Given the description of an element on the screen output the (x, y) to click on. 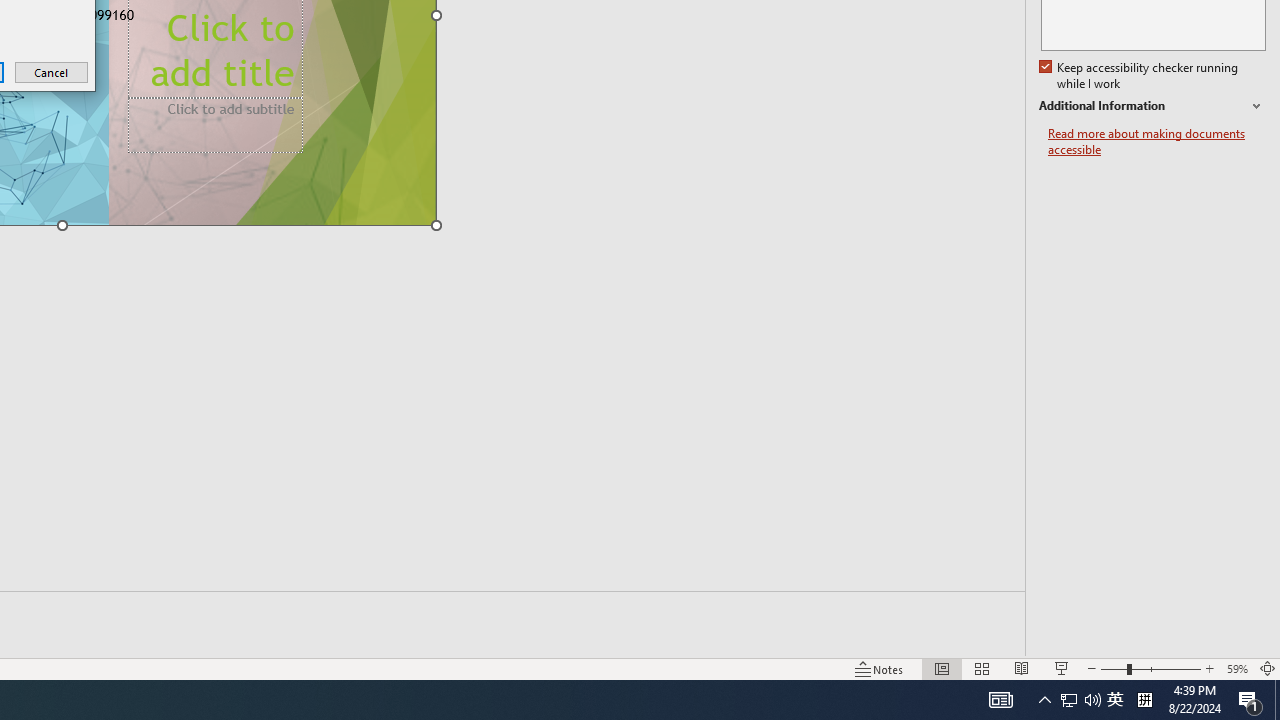
Zoom 59% (1236, 668)
